Given the description of an element on the screen output the (x, y) to click on. 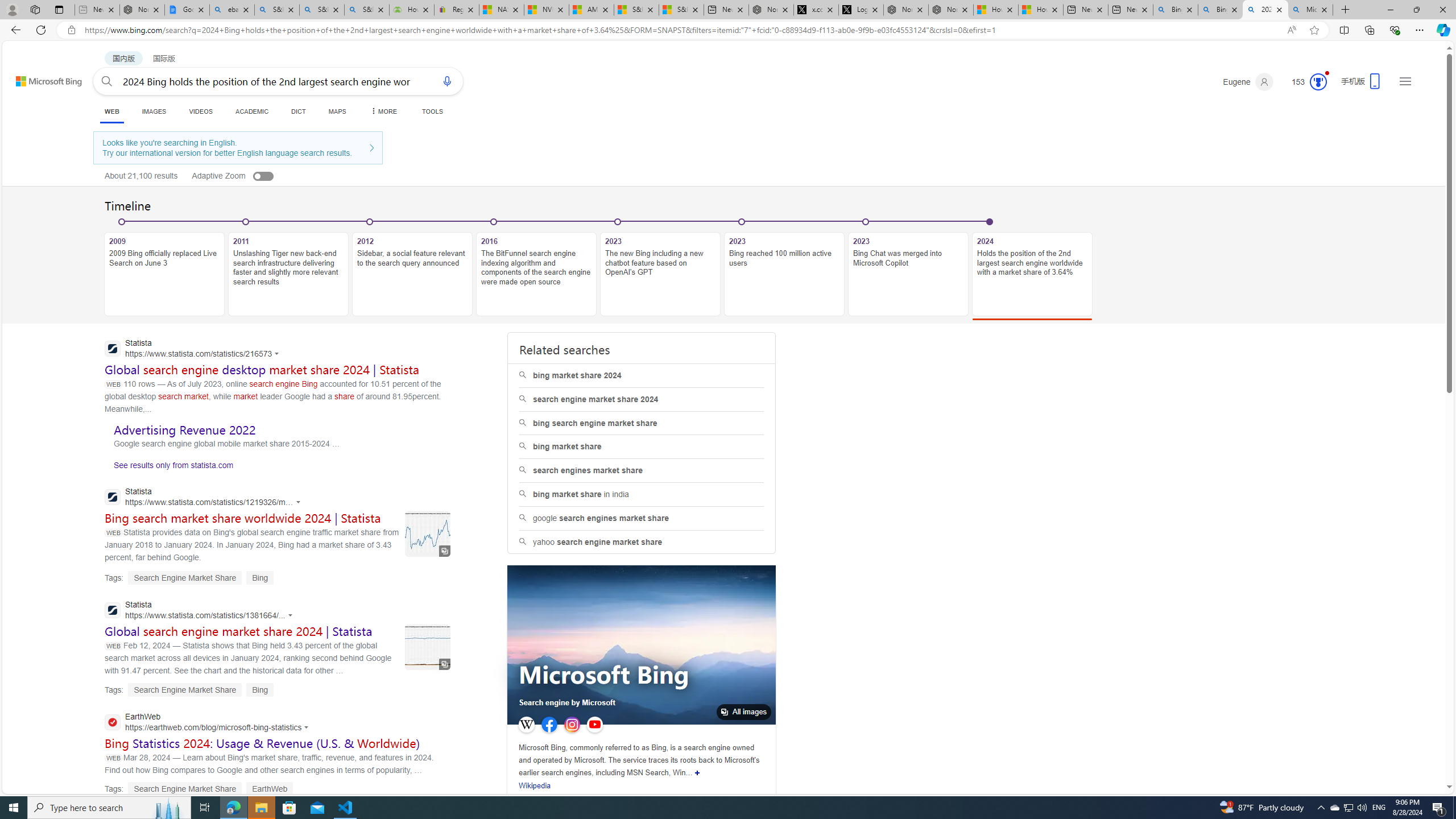
MAPS (336, 111)
Bing Statistics 2024: Usage & Revenue (U.S. & Worldwide) (262, 743)
bing market share (641, 446)
VIDEOS (201, 111)
2023Bing reached 100 million active users (784, 267)
Microsoft Rewards 153 (1304, 81)
See results only from statista.com (169, 467)
